Given the description of an element on the screen output the (x, y) to click on. 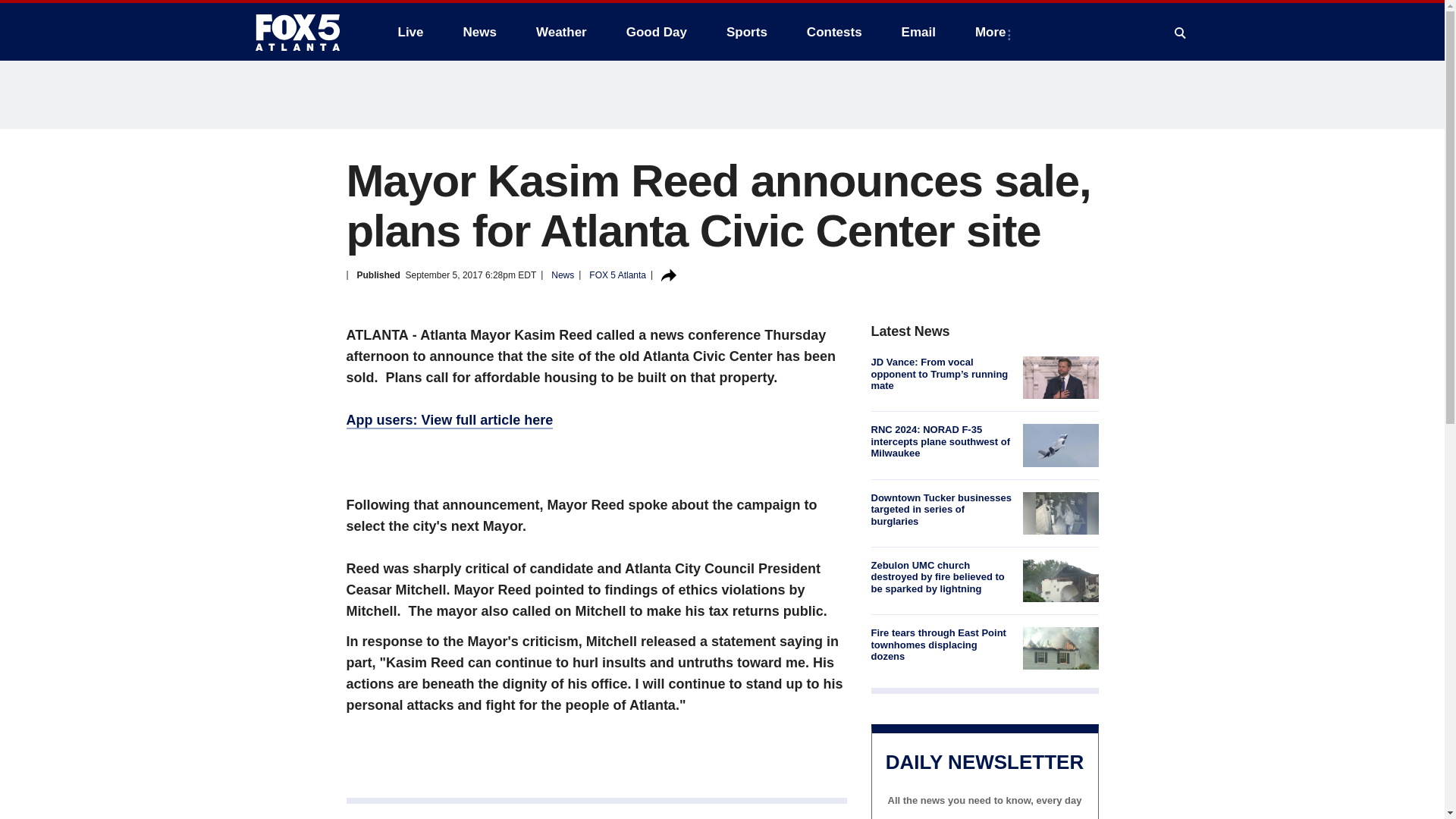
Live (410, 32)
Weather (561, 32)
Sports (746, 32)
Email (918, 32)
News (479, 32)
Contests (834, 32)
Good Day (656, 32)
More (993, 32)
